Given the description of an element on the screen output the (x, y) to click on. 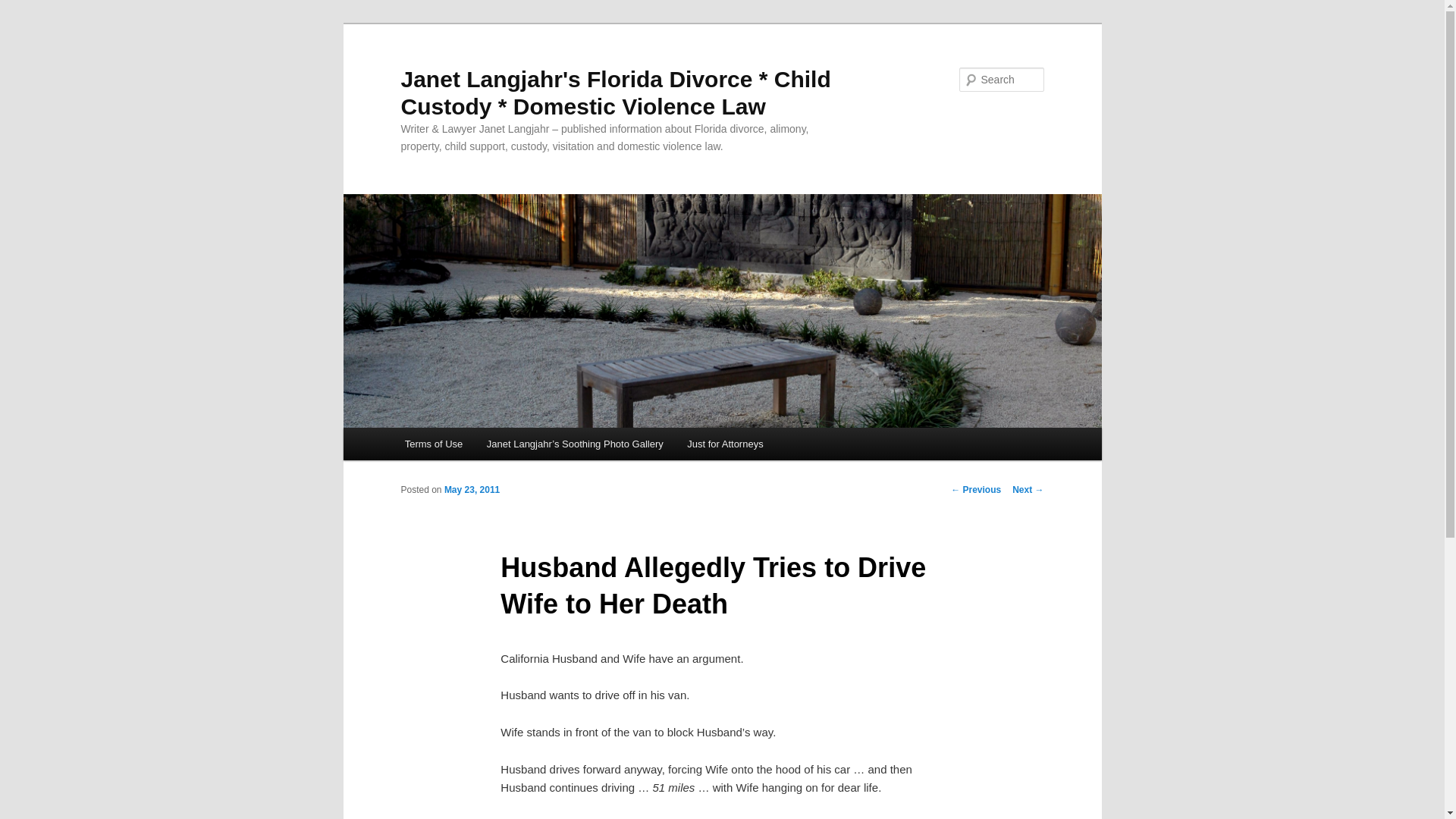
May 23, 2011 (471, 489)
4:14 pm (471, 489)
Search (24, 8)
Terms of Use (433, 443)
Just for Attorneys (724, 443)
